Given the description of an element on the screen output the (x, y) to click on. 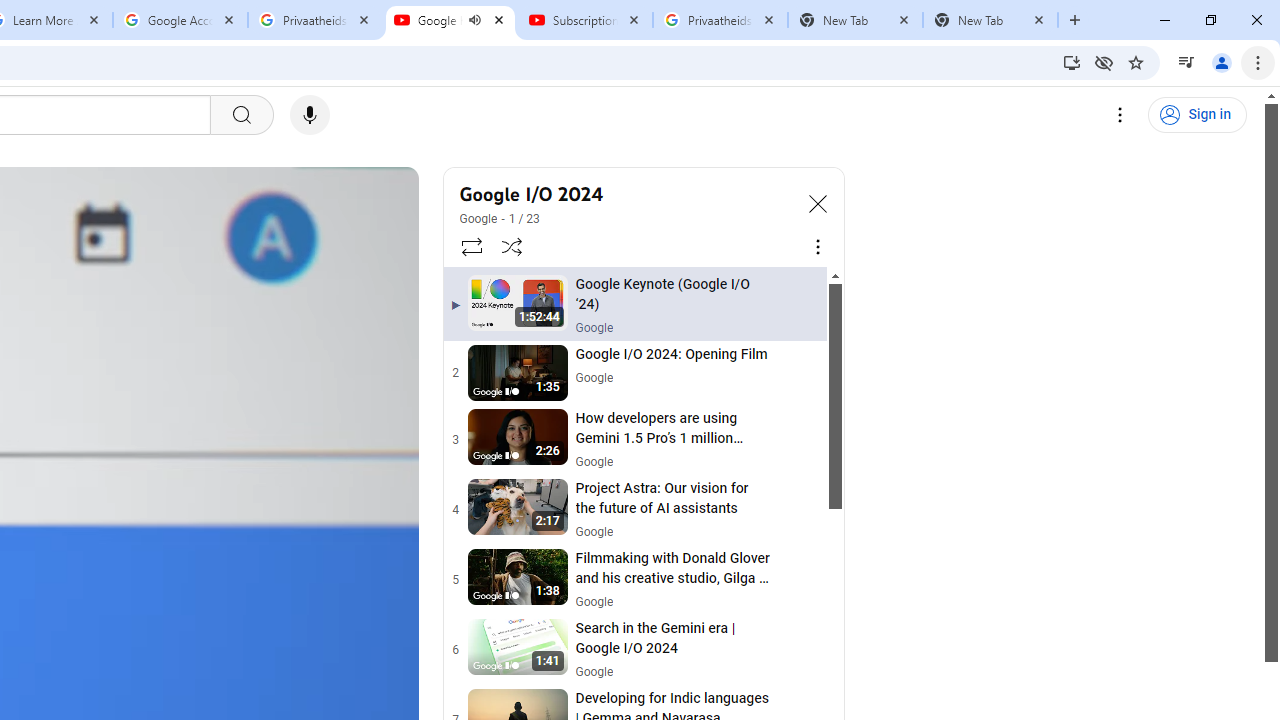
Google Account (180, 20)
Action menu (798, 650)
